Given the description of an element on the screen output the (x, y) to click on. 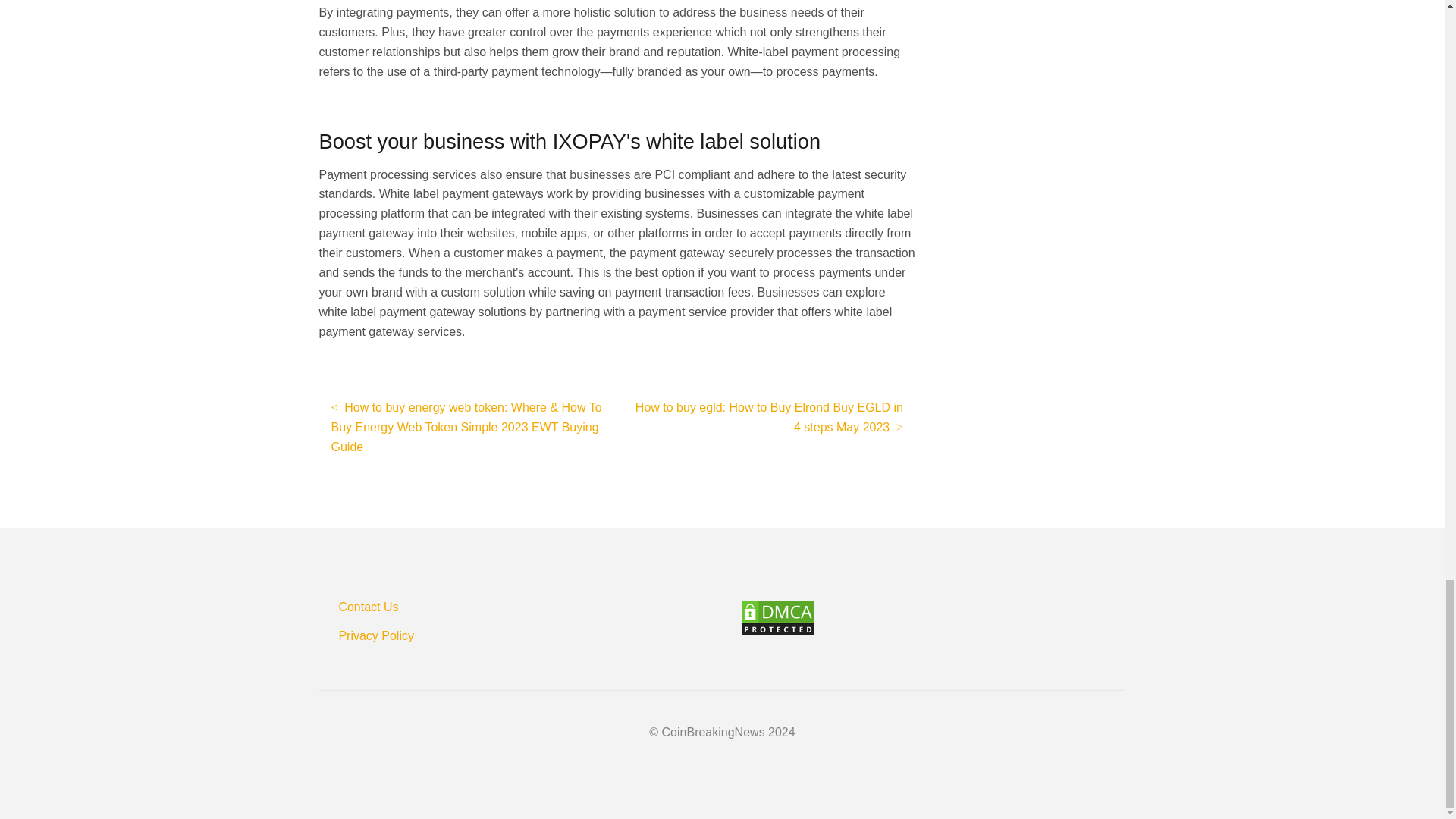
Contact Us (367, 606)
Content Protection by DMCA.com (932, 617)
